Given the description of an element on the screen output the (x, y) to click on. 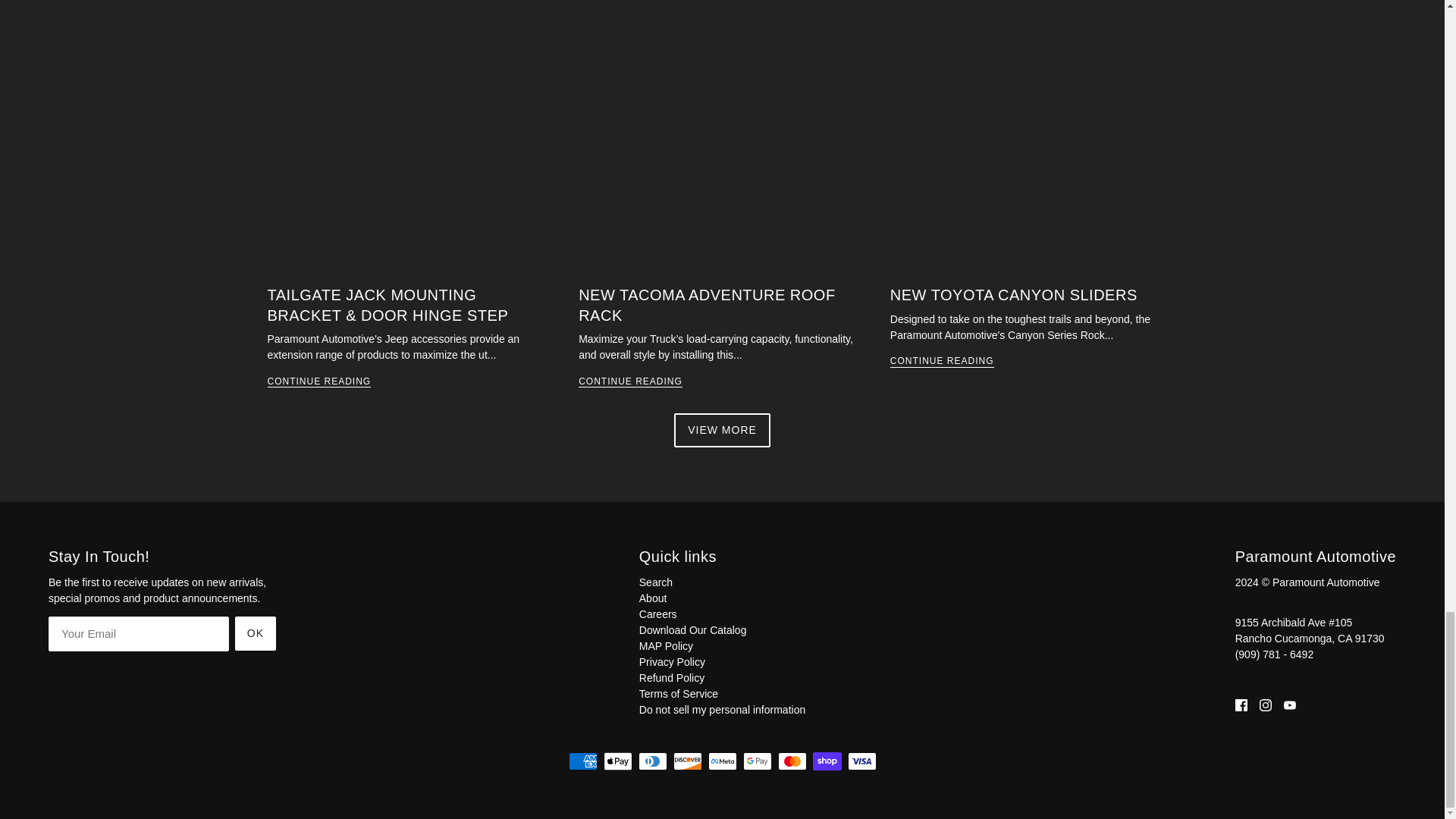
Mastercard (791, 761)
Apple Pay (617, 761)
VIEW MORE (721, 430)
MAP Policy (666, 645)
CONTINUE READING (630, 382)
Google Pay (756, 761)
About (652, 598)
Refund Policy (671, 677)
CONTINUE READING (941, 361)
Do not sell my personal information (722, 709)
Shop Pay (826, 761)
Search (655, 582)
Meta Pay (721, 761)
Diners Club (652, 761)
Careers (658, 613)
